Given the description of an element on the screen output the (x, y) to click on. 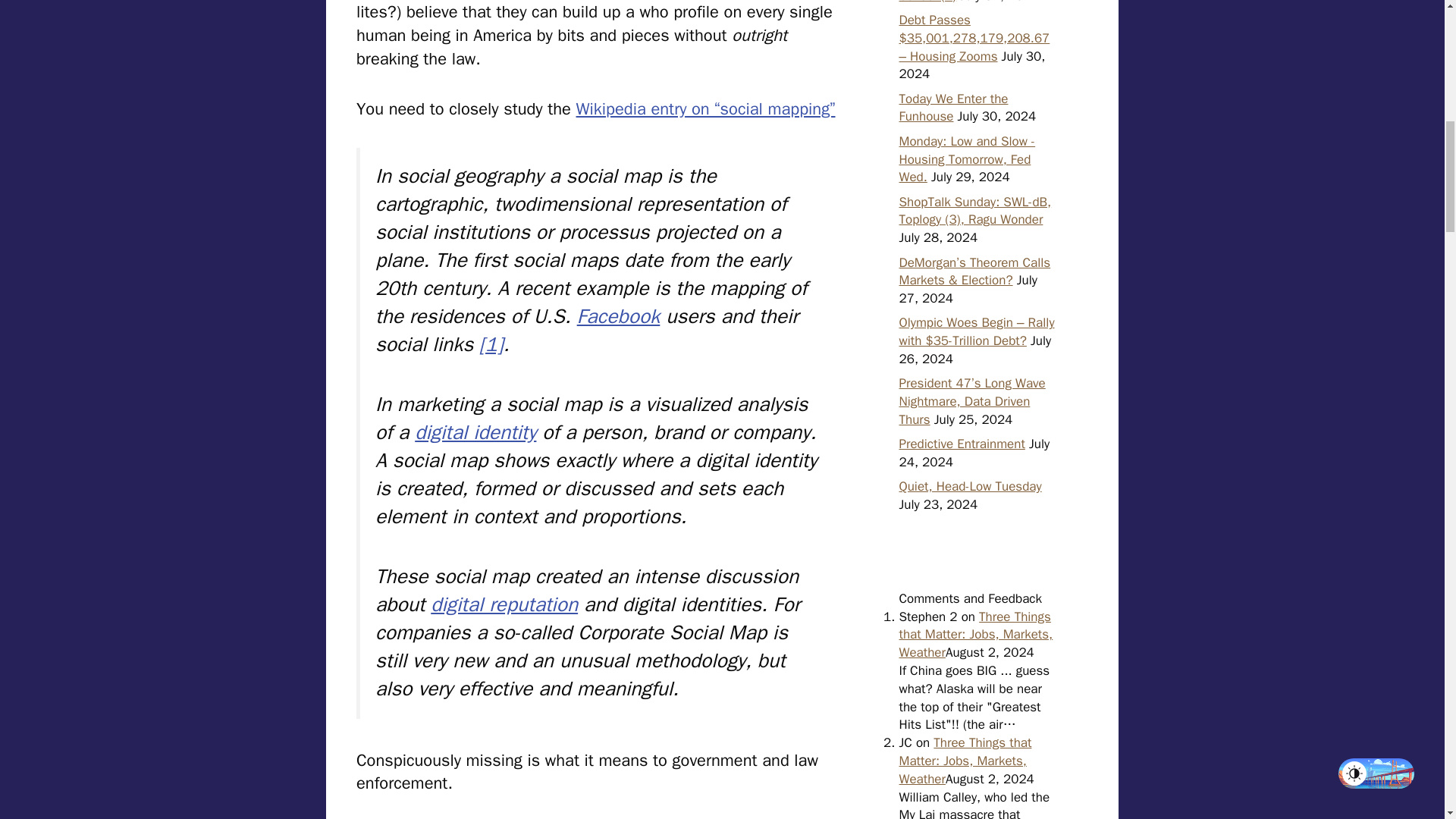
Scroll back to top (1406, 720)
